Given the description of an element on the screen output the (x, y) to click on. 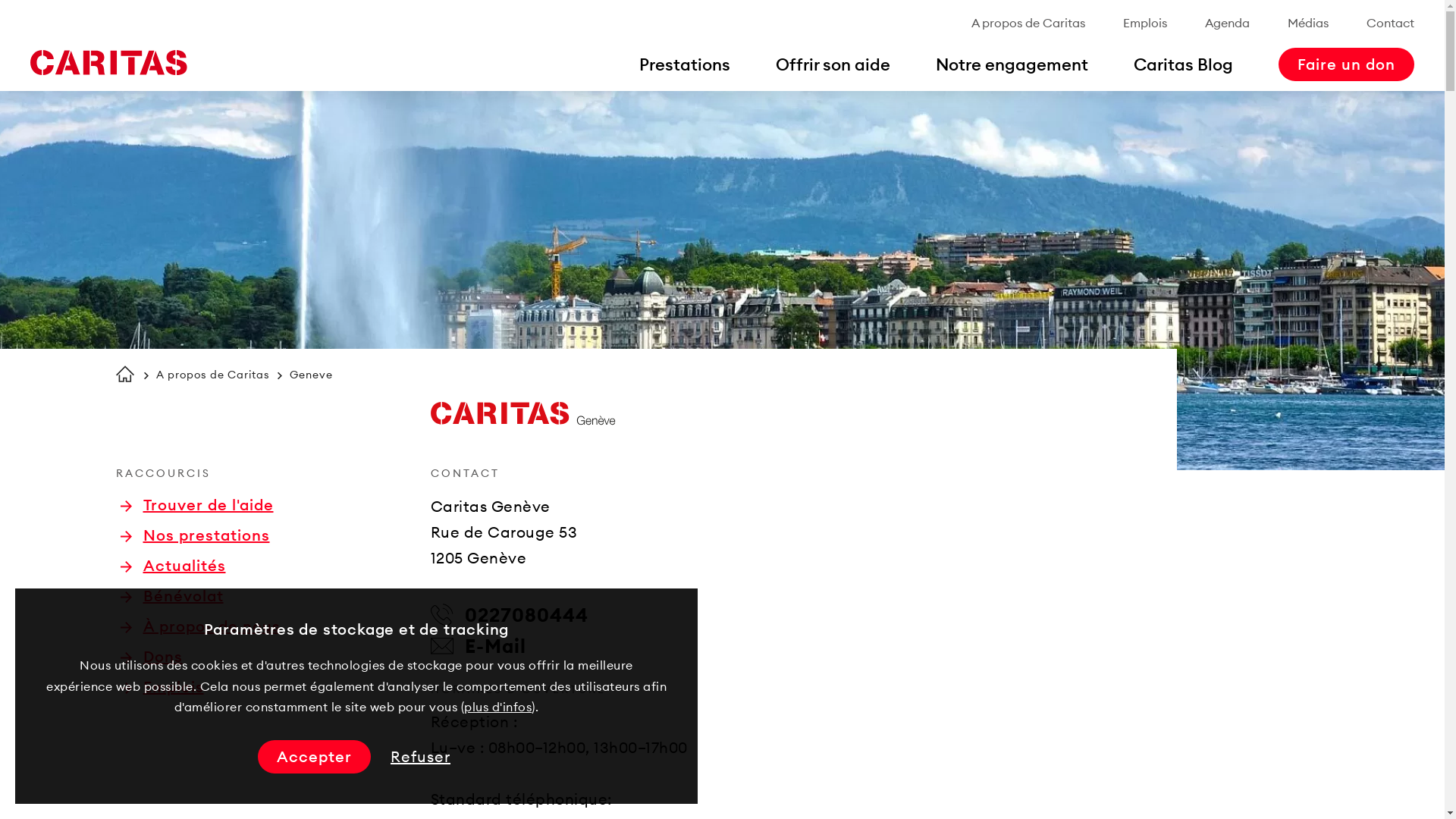
Contact Element type: text (1390, 22)
0227080444
Le lien s'ouvre dans un nouvel onglet. Element type: text (509, 614)
plus d'infos Element type: text (497, 706)
Open sub menu Element type: text (18, 18)
A propos de Caritas Element type: text (1028, 22)
Notre engagement Element type: text (1011, 64)
Trouver de l'aide Element type: text (196, 504)
Emplois Element type: text (161, 686)
A propos de Caritas Element type: text (212, 375)
Faire un don
Le lien s'ouvre dans un nouvel onglet. Element type: text (1346, 64)
Dons Element type: text (150, 656)
Refuser Element type: text (420, 756)
Agenda Element type: text (1226, 22)
E-Mail
Le lien s'ouvre dans un nouvel onglet. Element type: text (478, 645)
Accepter Element type: text (313, 756)
Page d'accueil Element type: text (124, 373)
Caritas Blog Element type: text (1183, 64)
Prestations Element type: text (684, 64)
Page d'accueil Element type: text (108, 62)
Nos prestations Element type: text (194, 535)
Offrir son aide Element type: text (832, 64)
Emplois Element type: text (1145, 22)
